Given the description of an element on the screen output the (x, y) to click on. 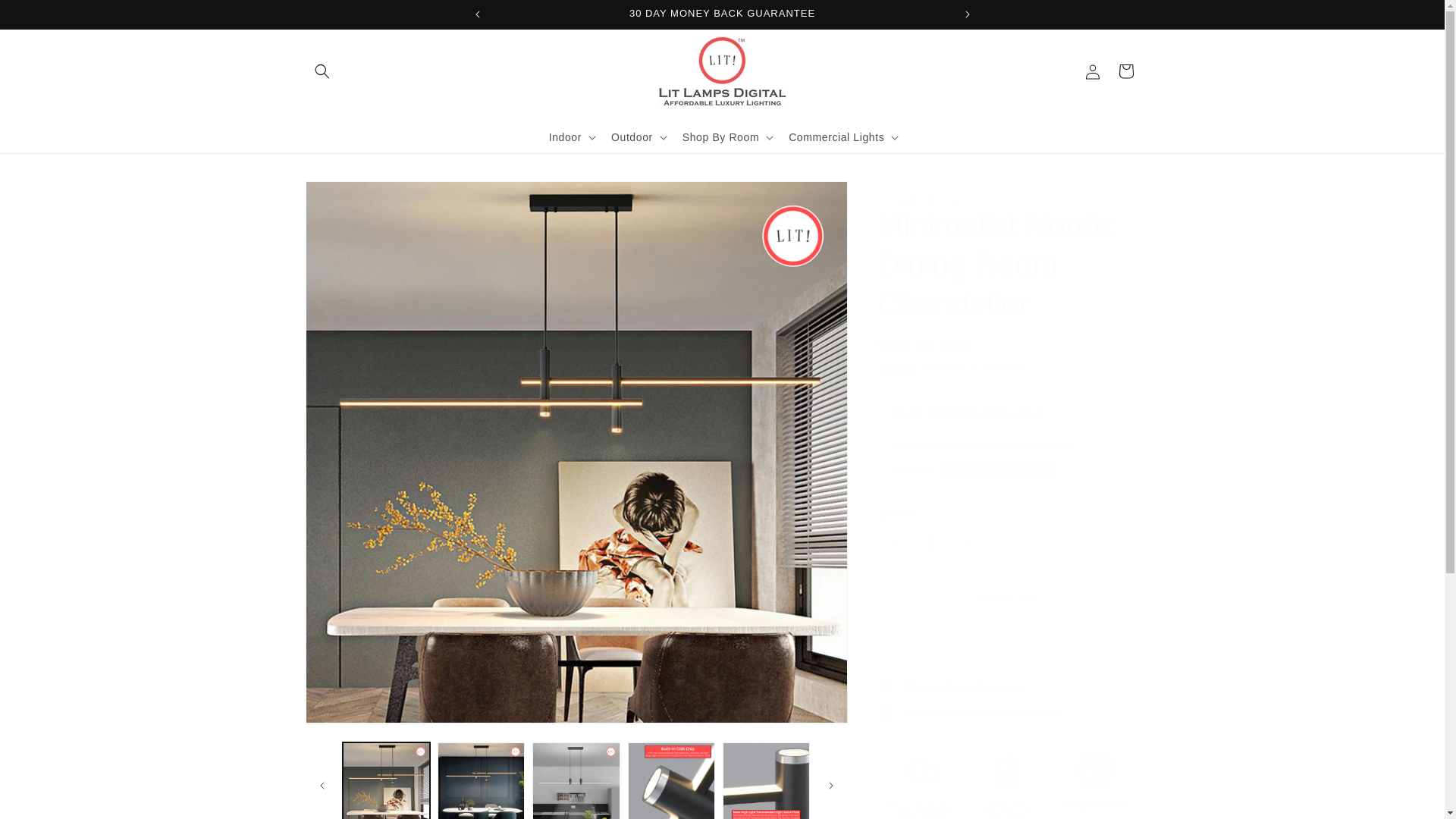
1 (931, 542)
Indoor (564, 136)
Skip to content (45, 17)
